Given the description of an element on the screen output the (x, y) to click on. 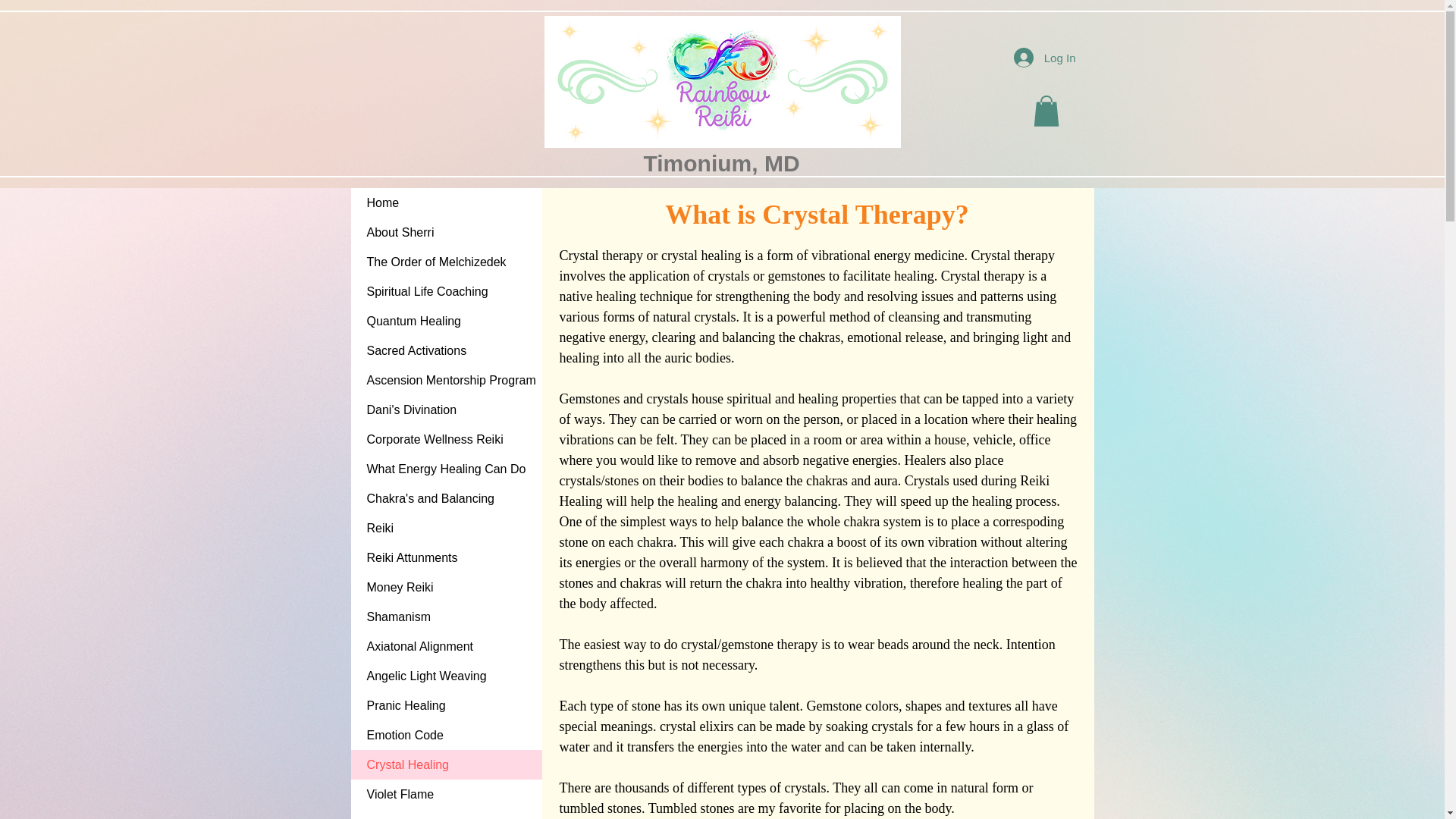
RR NL Header.png (722, 81)
Money Reiki (445, 586)
Magnified Healing (445, 814)
Angelic Light Weaving (445, 675)
About Sherri (445, 232)
Crystal Healing (445, 764)
Log In (1044, 57)
Pranic Healing (445, 705)
Spiritual Life Coaching (445, 291)
Reiki (445, 527)
